Given the description of an element on the screen output the (x, y) to click on. 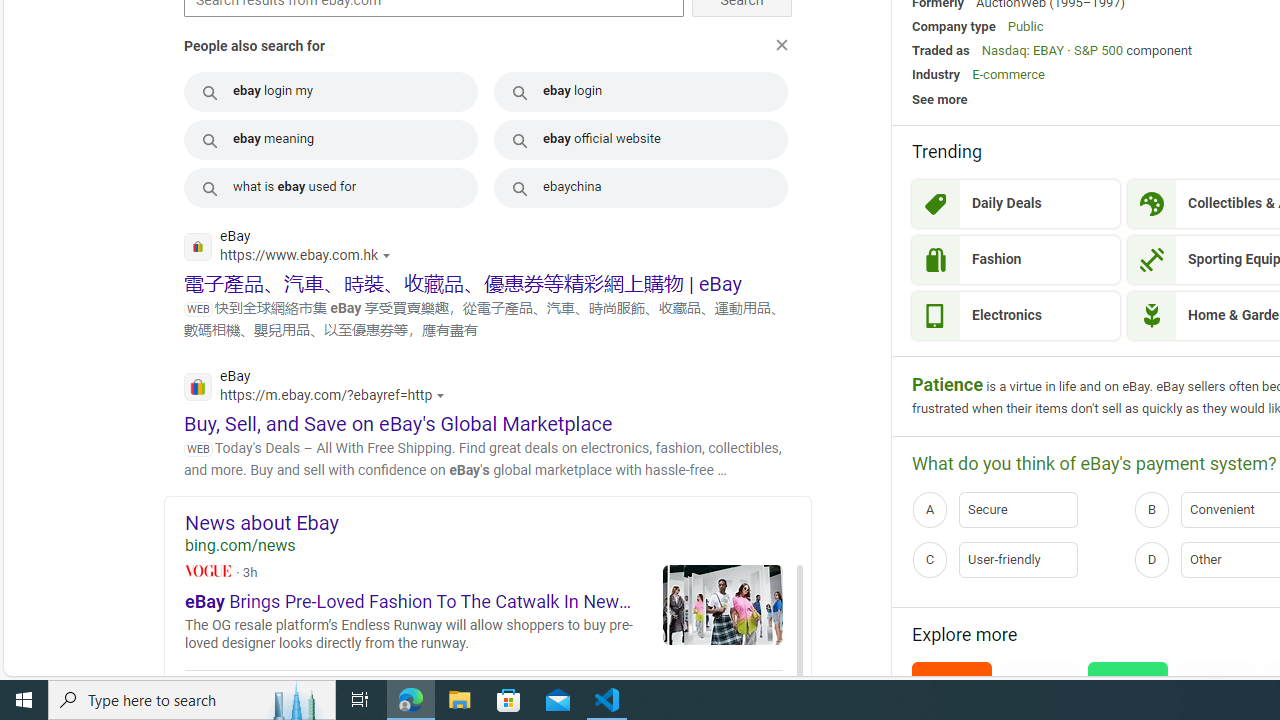
E-commerce (1007, 74)
Fashion (1015, 259)
EBAY (1047, 50)
ebay login (641, 91)
ebay login (641, 91)
ebay official website (641, 138)
ebay meaning (330, 138)
Company type (953, 25)
ebay login my (330, 91)
ebay meaning (330, 138)
ebay official website (641, 138)
what is ebay used for (330, 187)
News about Ebay (498, 522)
